Given the description of an element on the screen output the (x, y) to click on. 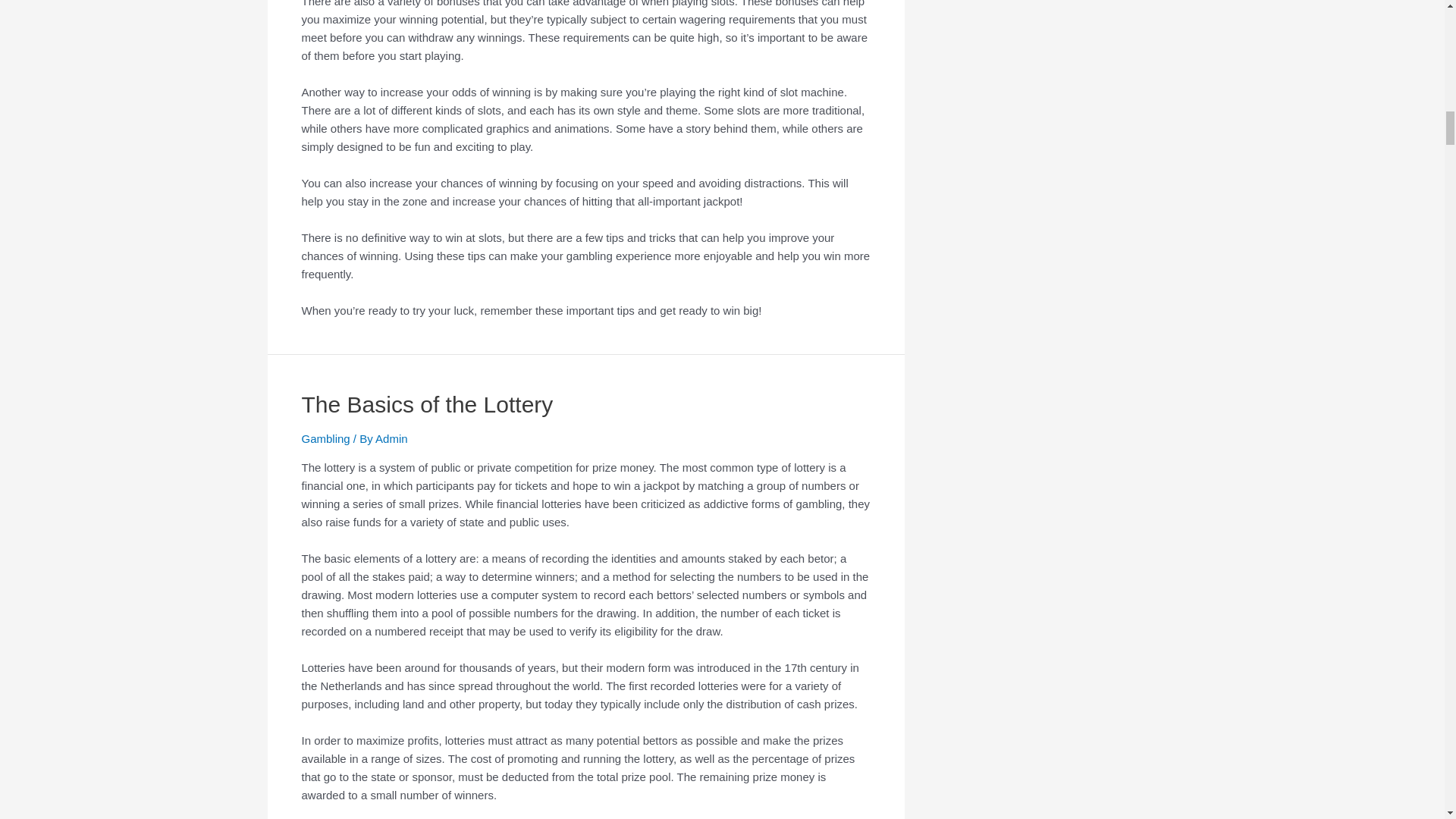
The Basics of the Lottery (427, 404)
Gambling (325, 438)
Admin (391, 438)
View all posts by Admin (391, 438)
